Given the description of an element on the screen output the (x, y) to click on. 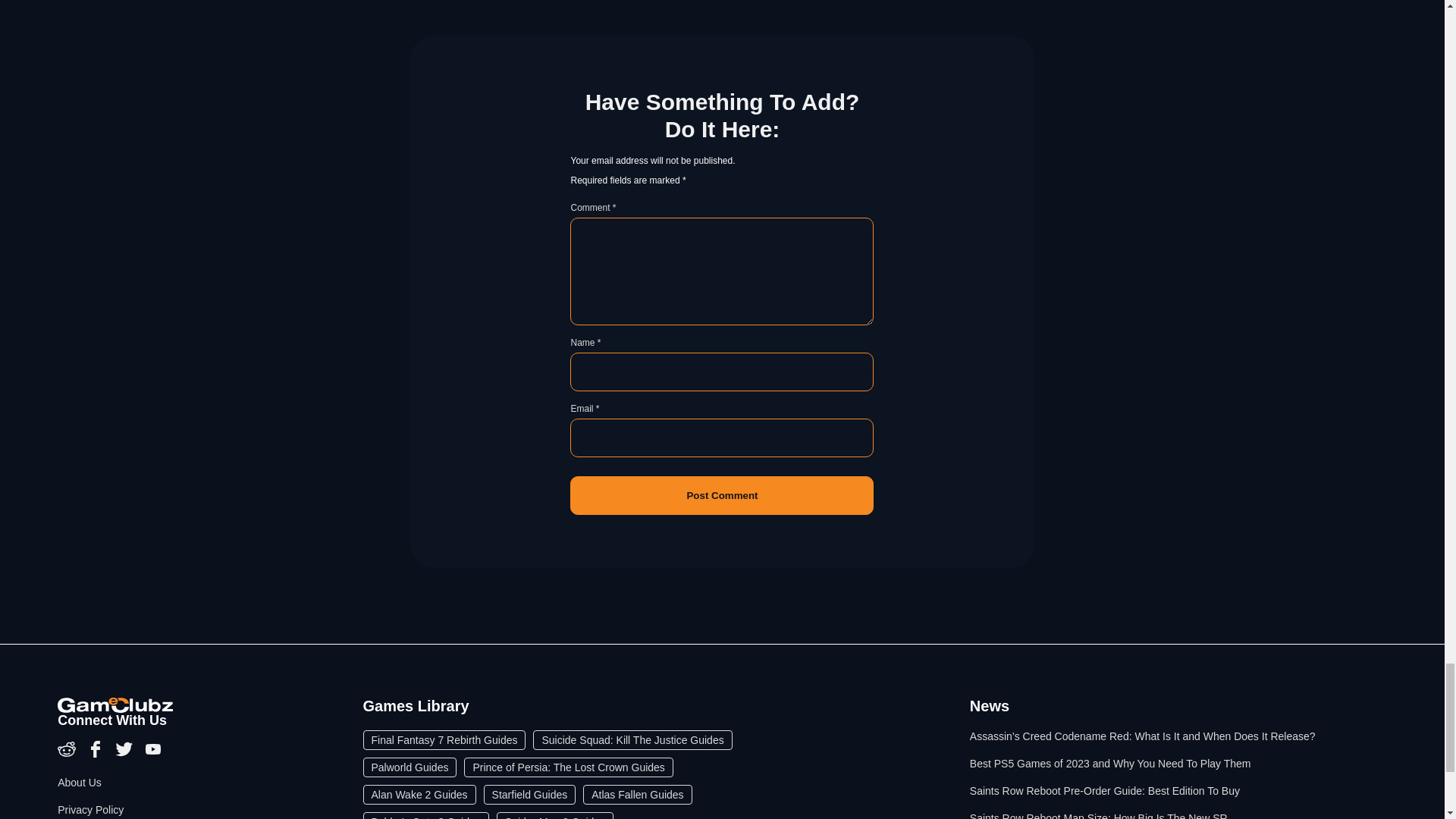
instagram (68, 754)
facebook (96, 754)
youtube (152, 754)
twitter (125, 754)
Post Comment (721, 495)
